Given the description of an element on the screen output the (x, y) to click on. 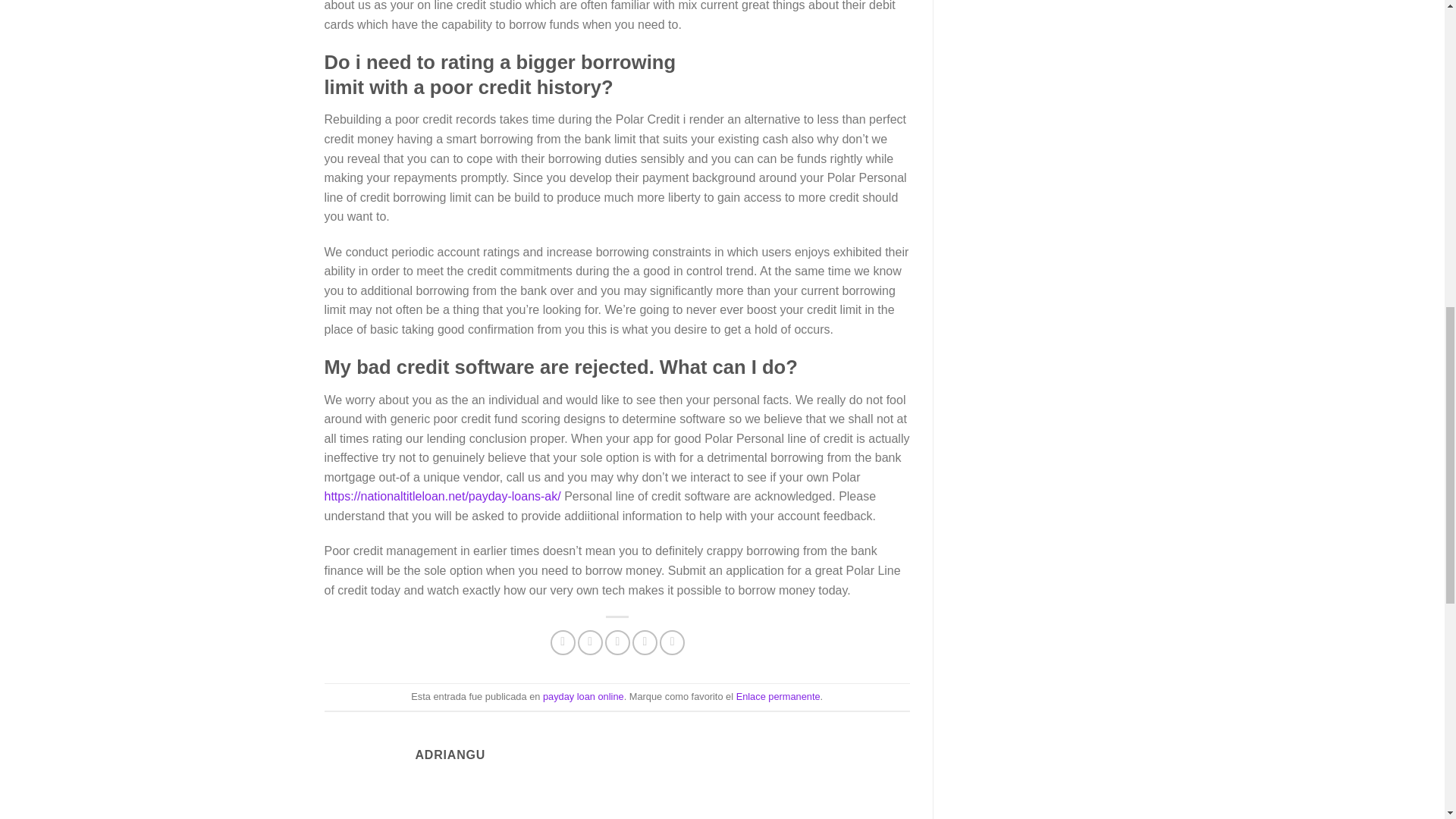
Pinear en Pinterest (644, 642)
payday loan online (583, 696)
Enlace permanente (778, 696)
Compartir en Facebook (562, 642)
Compartir en LinkedIn (671, 642)
Compartir en Twitter (590, 642)
